Given the description of an element on the screen output the (x, y) to click on. 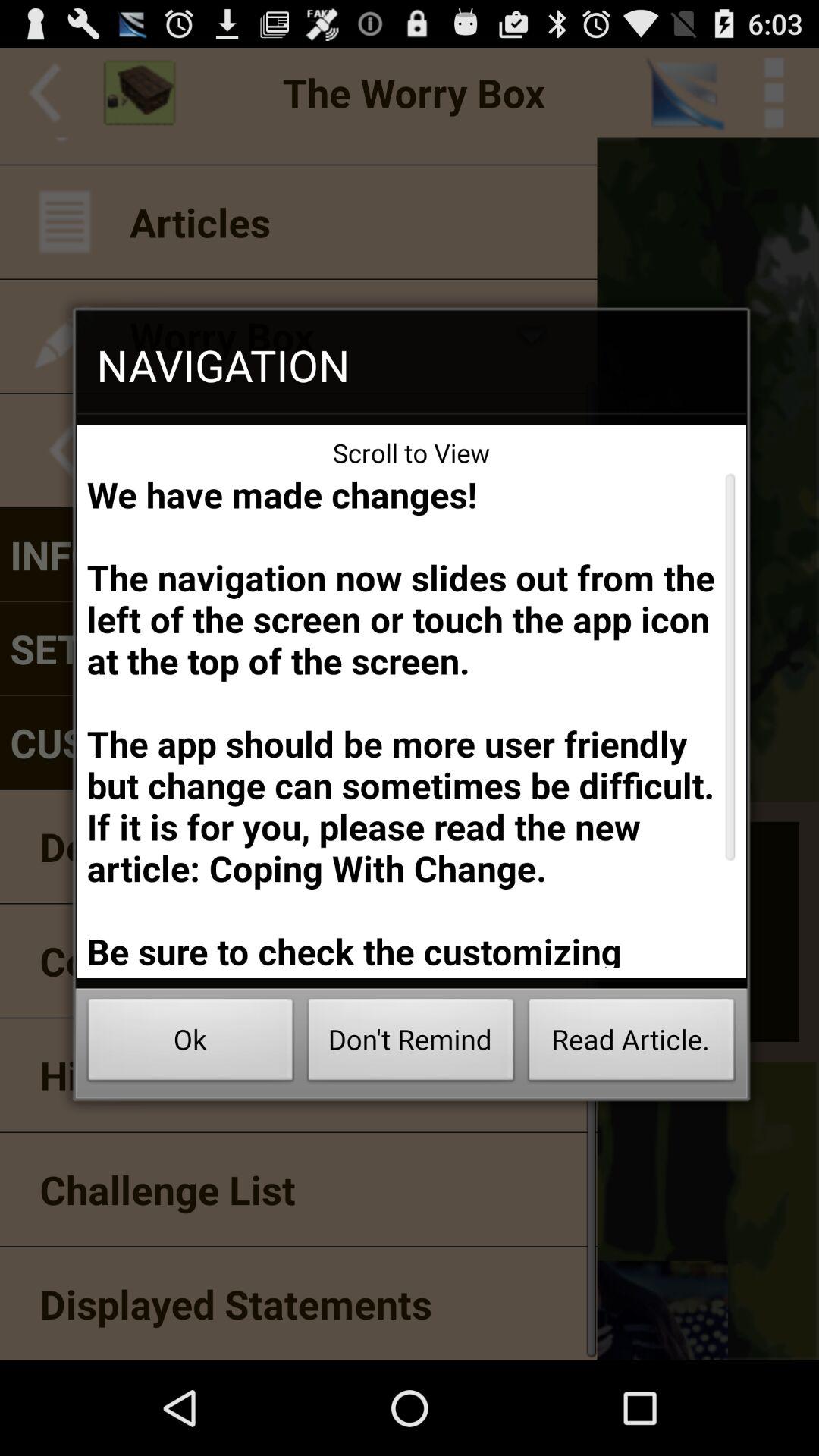
open the icon next to don't remind item (190, 1044)
